Given the description of an element on the screen output the (x, y) to click on. 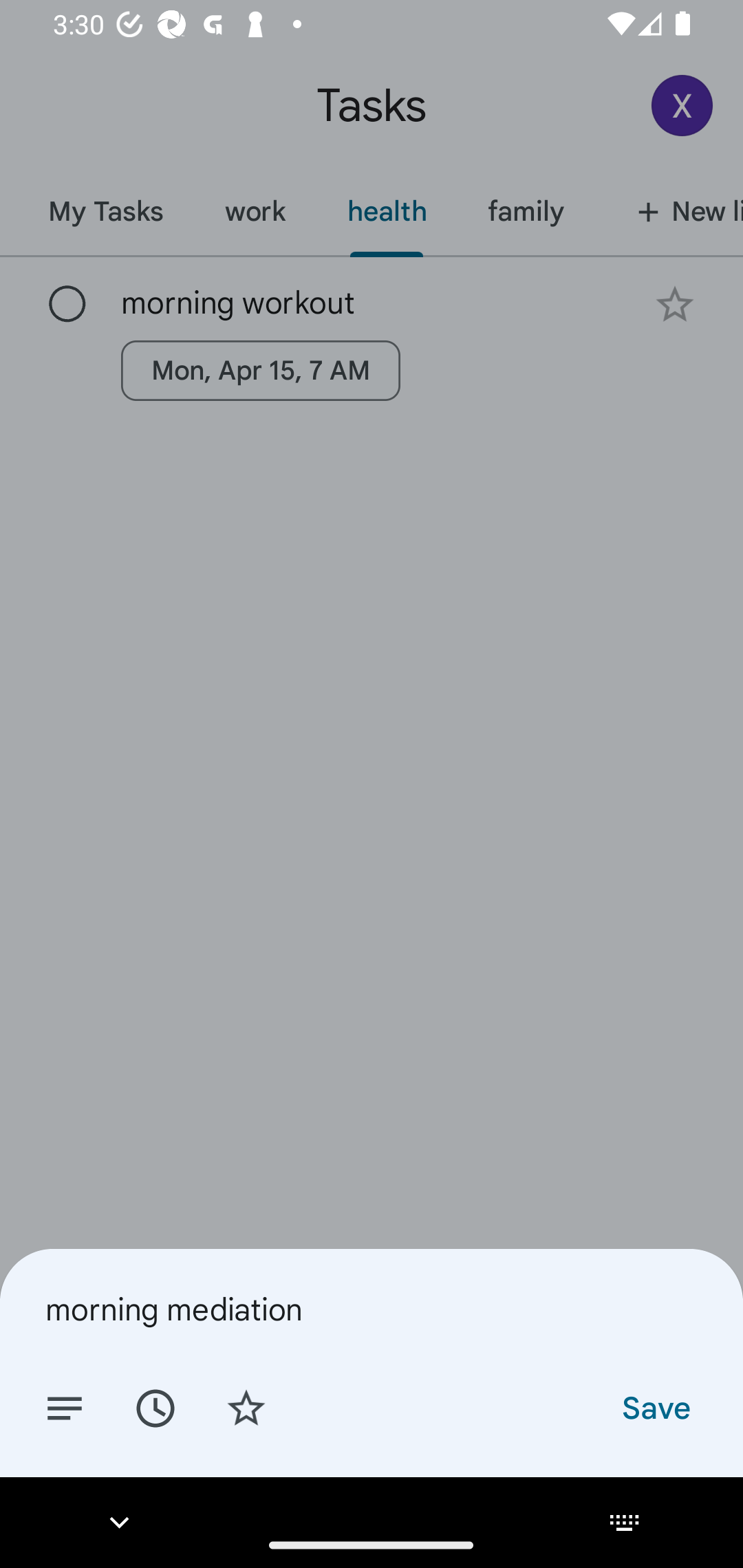
morning mediation (371, 1308)
Save (655, 1407)
Add details (64, 1407)
Set date/time (154, 1407)
Add star (245, 1407)
